Given the description of an element on the screen output the (x, y) to click on. 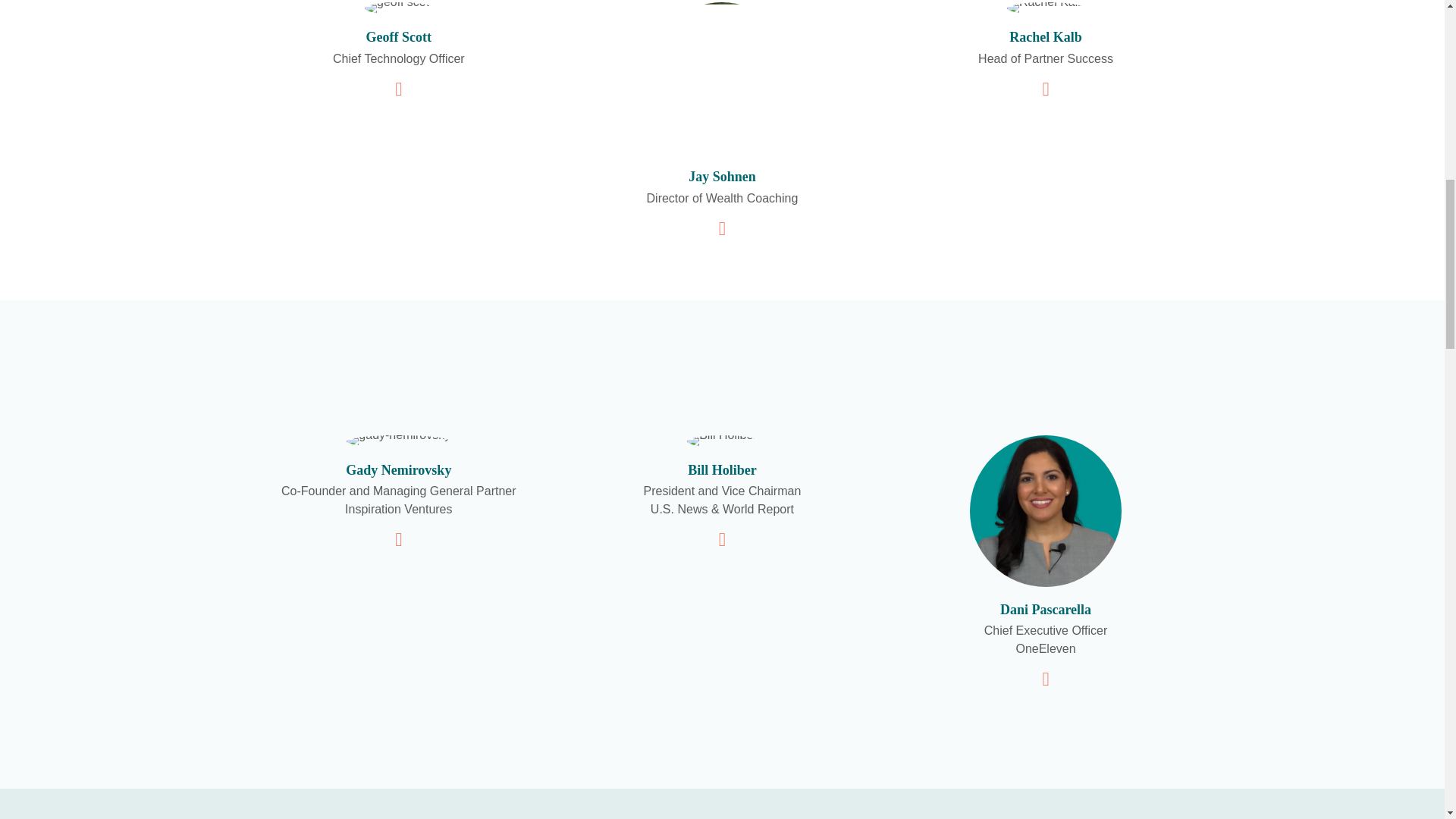
gady-nemirovsky (397, 440)
geoff scott (398, 8)
Jason Head shot (721, 77)
Bill Holiber (722, 440)
Rachel Kalb (1045, 8)
dani-pascarella-2 (1045, 510)
